Given the description of an element on the screen output the (x, y) to click on. 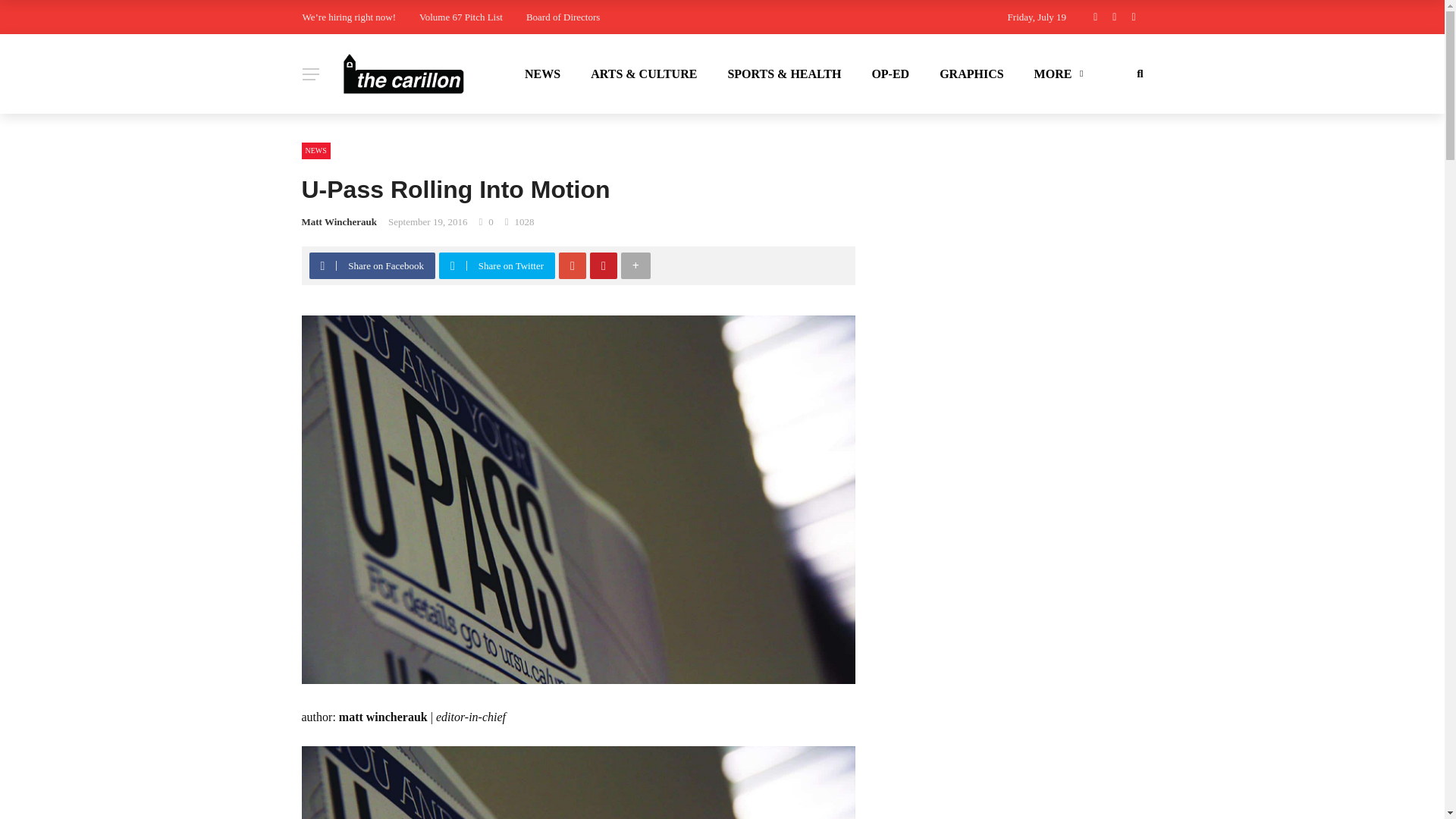
Volume 67 Pitch List (460, 16)
GRAPHICS (970, 73)
MORE (1056, 73)
Board of Directors (562, 16)
